Given the description of an element on the screen output the (x, y) to click on. 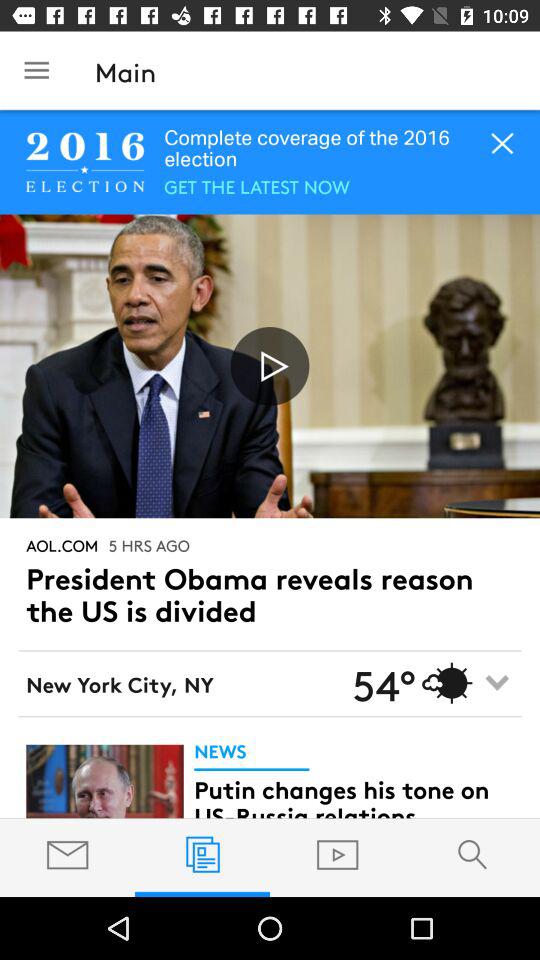
play the video (269, 366)
